Given the description of an element on the screen output the (x, y) to click on. 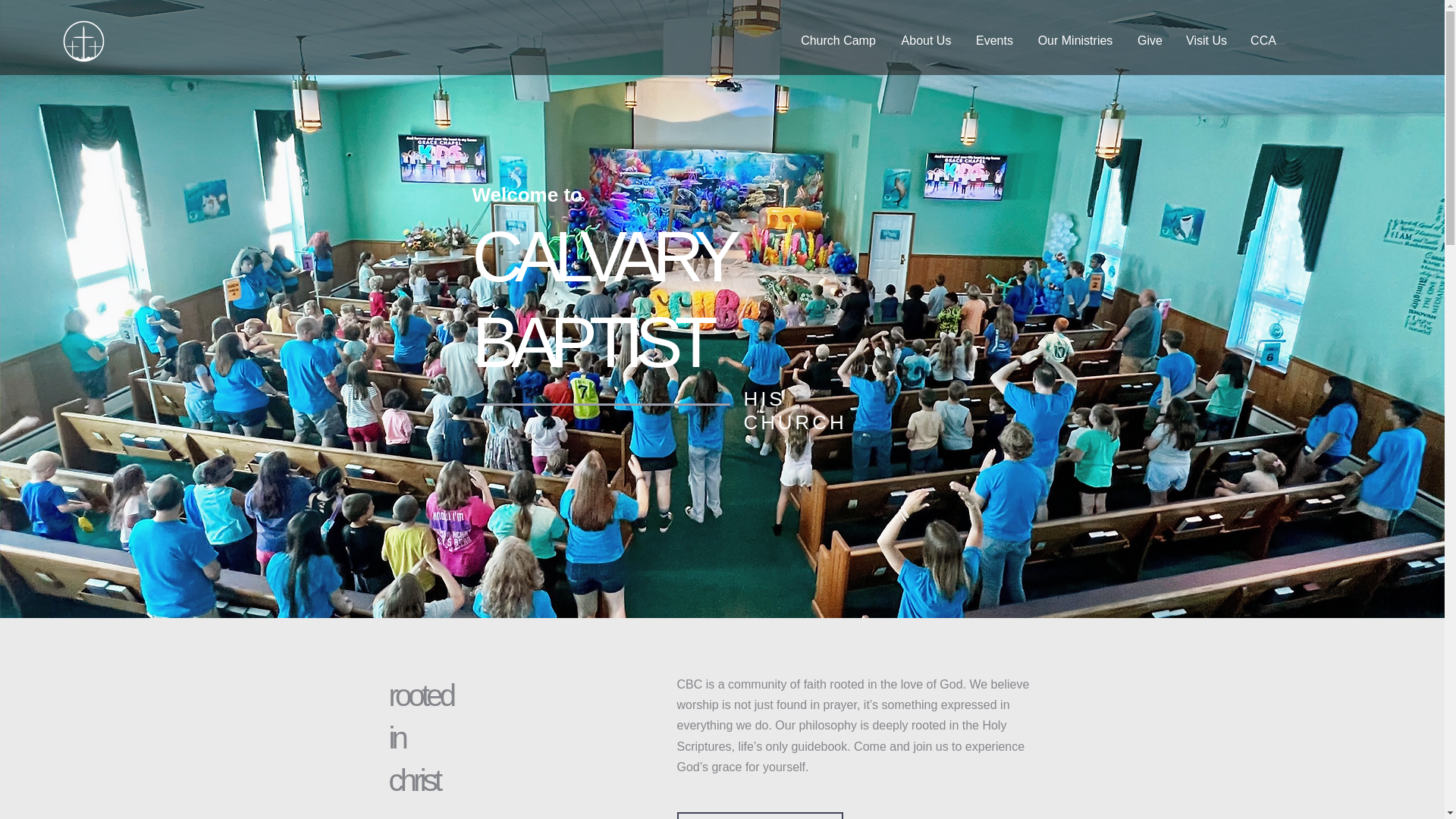
Visit Us (1206, 40)
Events (994, 40)
About Us (925, 40)
Give (1149, 40)
Statement of Faith (760, 815)
Church Camp (838, 40)
Our Ministries (1075, 40)
CCA (1263, 40)
